Given the description of an element on the screen output the (x, y) to click on. 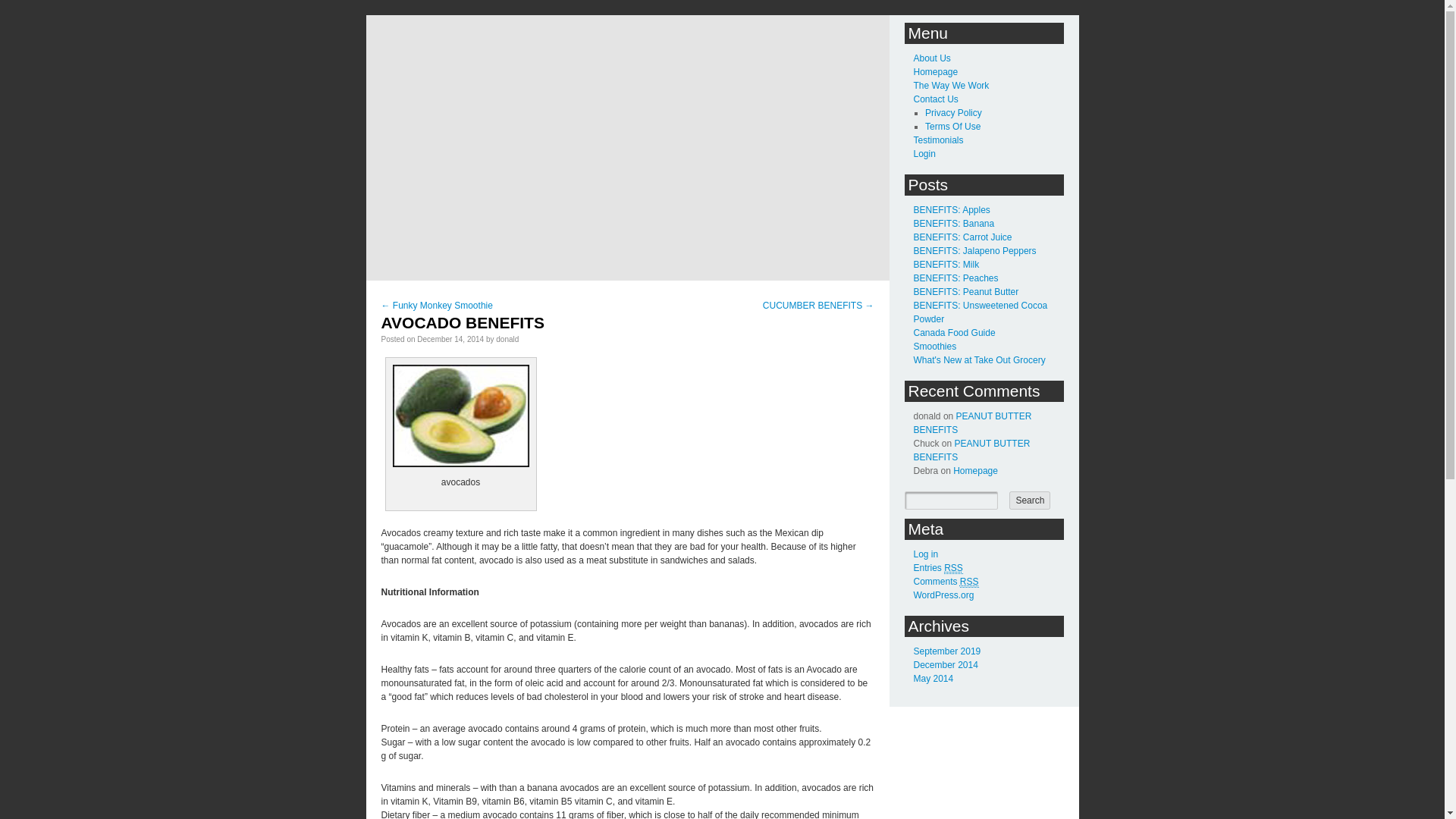
WordPress.org (943, 594)
BENEFITS: Unsweetened Cocoa Powder (979, 312)
BENEFITS: Jalapeno Peppers (973, 250)
BENEFITS: Carrot Juice (961, 236)
BENEFITS: Apples (951, 209)
The Way We Work (950, 85)
Search (1029, 500)
Search (1029, 500)
PEANUT BUTTER BENEFITS (970, 450)
Homepage (975, 470)
Terms Of Use (951, 126)
BENEFITS: Banana (953, 223)
Amazing smoothie recipies (934, 346)
Privacy Policy (952, 112)
